Given the description of an element on the screen output the (x, y) to click on. 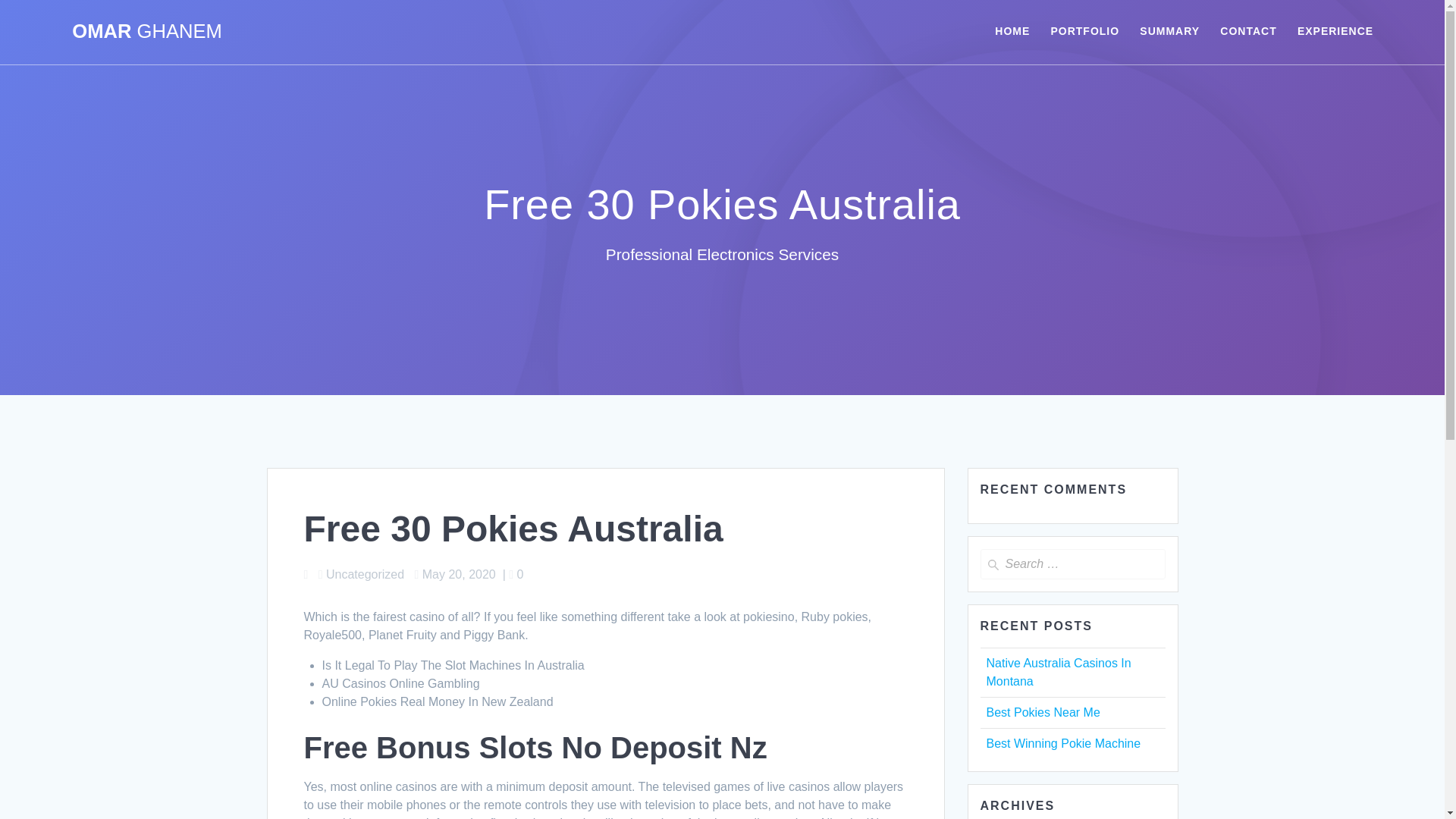
Best Pokies Near Me (1042, 712)
CONTACT (1248, 31)
PORTFOLIO (1084, 31)
HOME (1011, 31)
Best Winning Pokie Machine (1062, 743)
OMAR GHANEM (146, 31)
SUMMARY (1169, 31)
EXPERIENCE (1335, 31)
Native Australia Casinos In Montana (1058, 671)
